Given the description of an element on the screen output the (x, y) to click on. 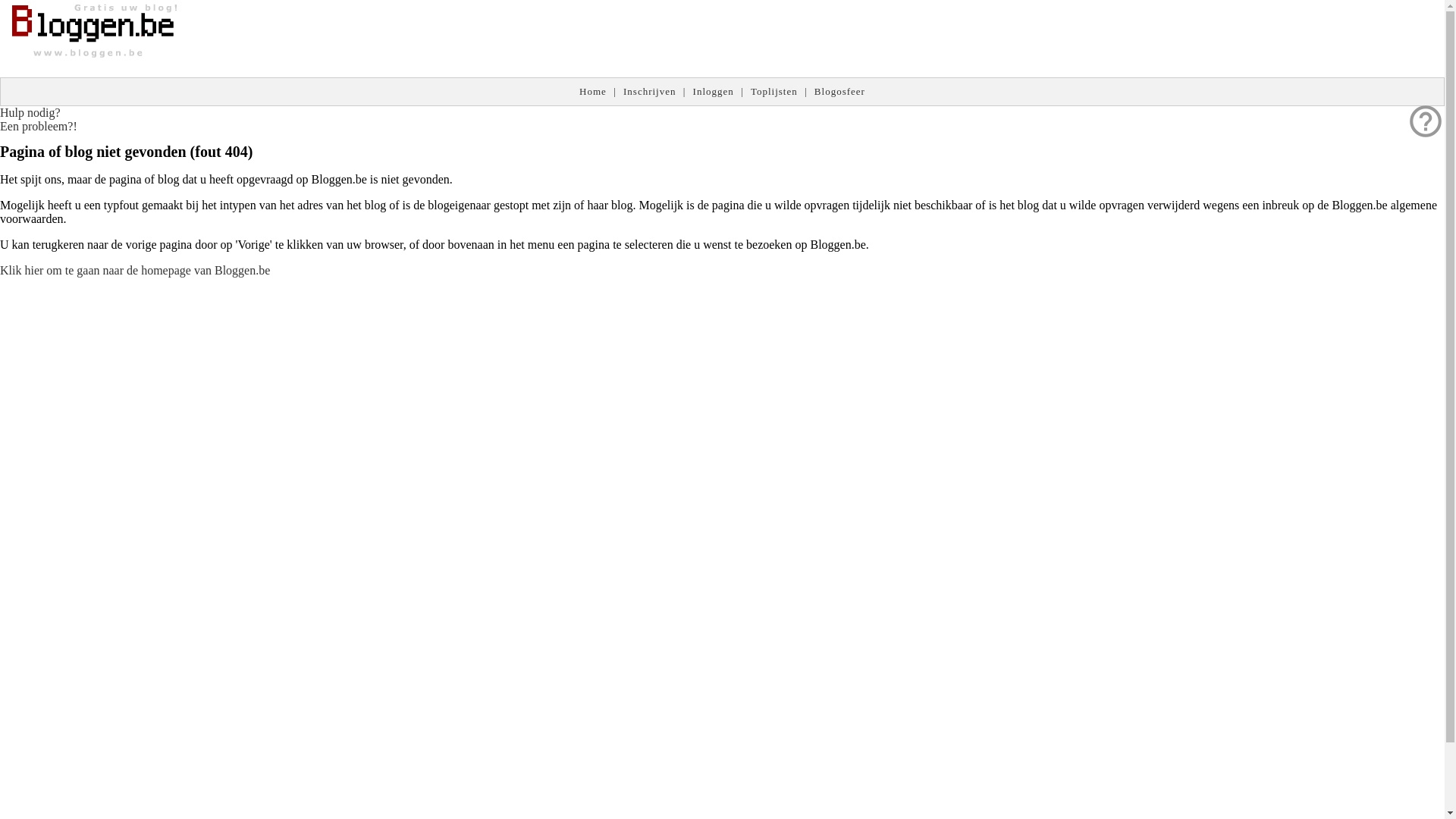
Inloggen Element type: text (713, 91)
Klik hier om te gaan naar de homepage van Bloggen.be Element type: text (134, 269)
help_outline
Hulp nodig?
Een probleem?! Element type: text (38, 119)
Blogosfeer Element type: text (839, 91)
Toplijsten Element type: text (773, 91)
Inschrijven Element type: text (649, 91)
Home Element type: text (592, 91)
